Given the description of an element on the screen output the (x, y) to click on. 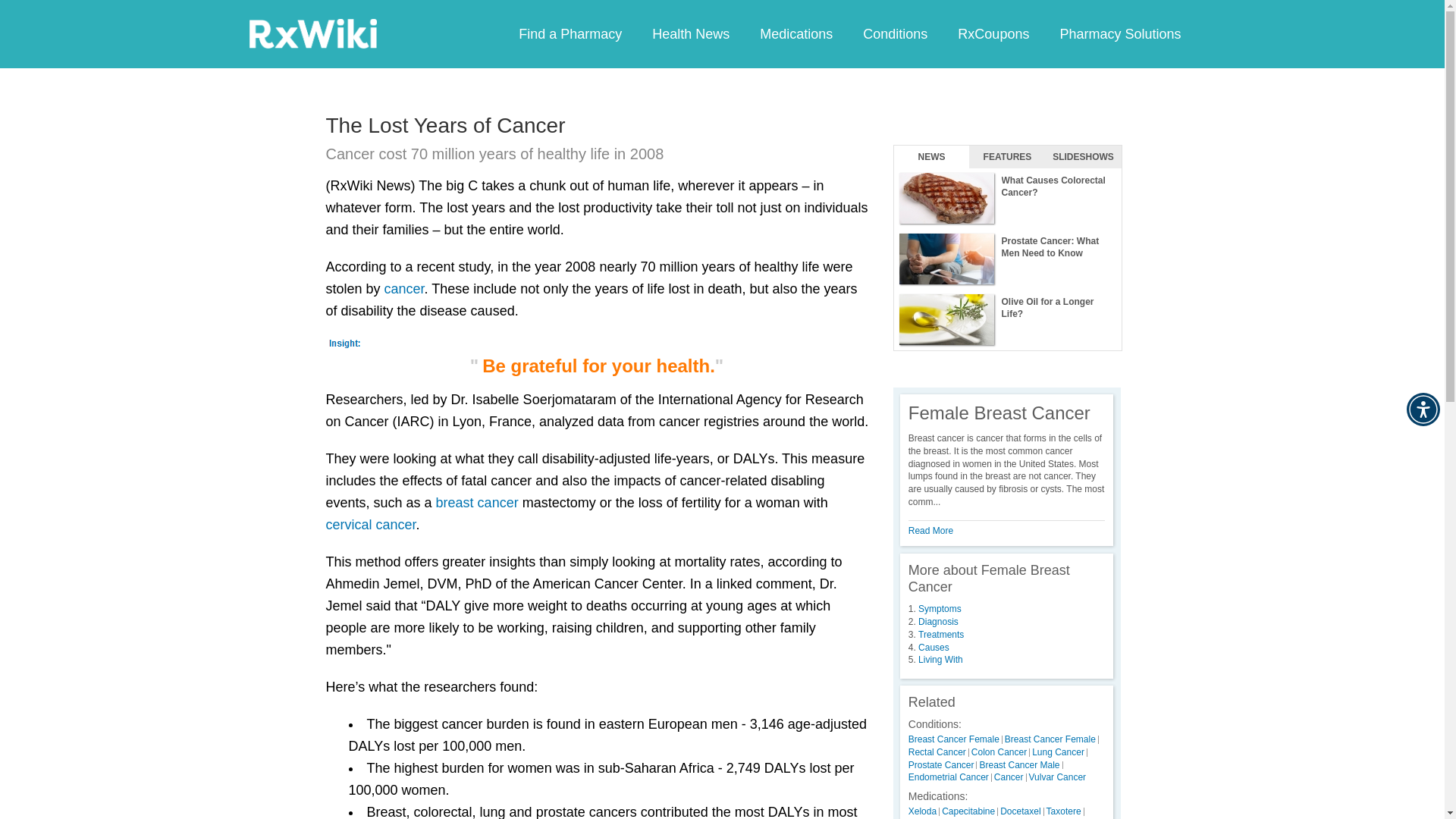
breast cancer (476, 502)
Pharmacy Solutions (1119, 33)
What Causes Colorectal Cancer? (1007, 198)
SLIDESHOWS (1083, 156)
FEATURES (1007, 156)
cervical cancer (371, 524)
Prostate Cancer: What Men Need to Know (1007, 259)
Accessibility Menu (1422, 409)
RxWiki (312, 32)
Find a Pharmacy (570, 33)
RxCoupons (992, 33)
Olive Oil for a Longer Life? (1007, 319)
Conditions (894, 33)
Medications (795, 33)
cancer (404, 288)
